Given the description of an element on the screen output the (x, y) to click on. 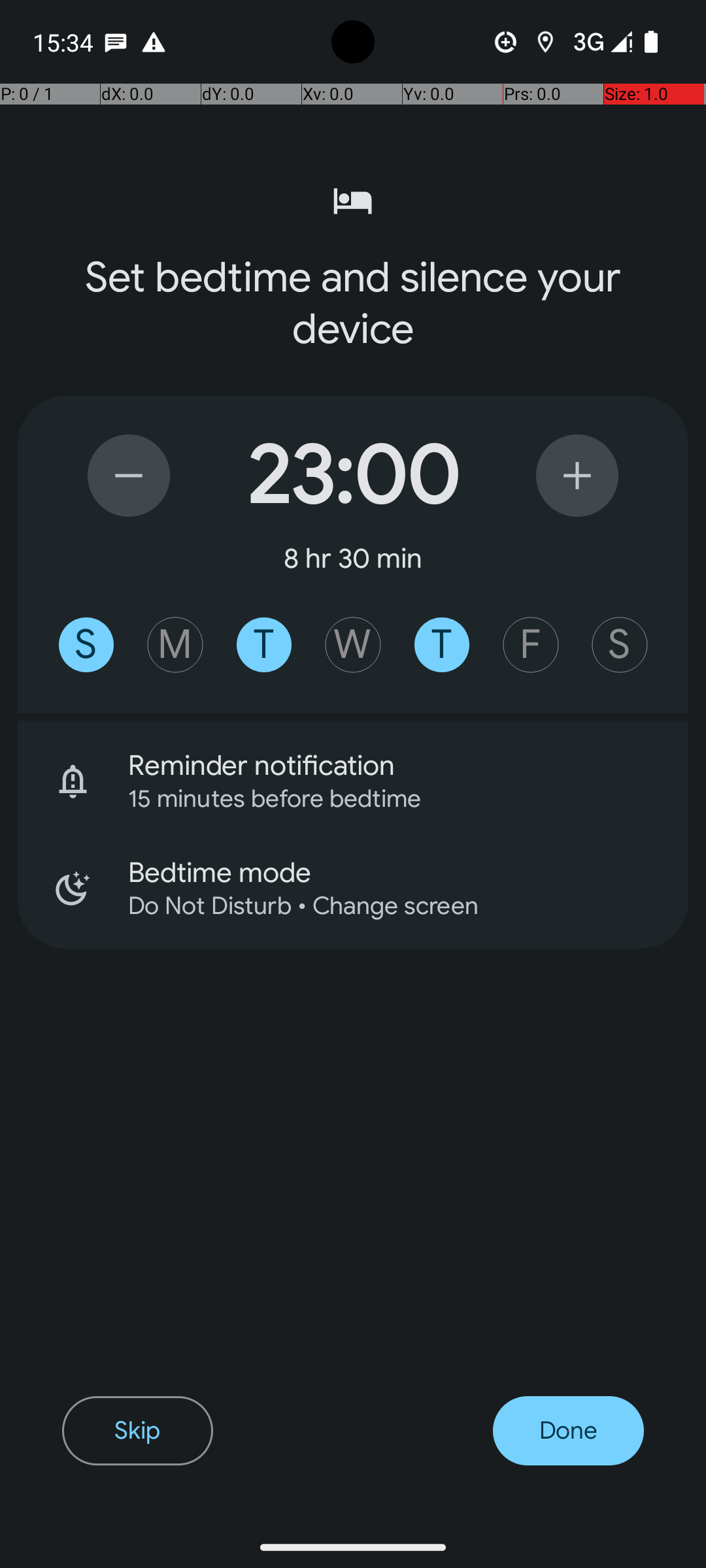
Set bedtime and silence your device Element type: android.widget.TextView (352, 302)
Fifteen minutes earlier Element type: android.widget.ImageView (128, 475)
23:00 Element type: android.widget.TextView (353, 475)
Fifteen minutes later Element type: android.widget.ImageView (577, 475)
8 hr 30 min Element type: android.widget.TextView (352, 558)
S Element type: android.widget.CheckBox (86, 644)
M Element type: android.widget.CheckBox (175, 644)
T Element type: android.widget.CheckBox (263, 644)
W Element type: android.widget.CheckBox (352, 644)
F Element type: android.widget.CheckBox (530, 644)
Skip Element type: android.widget.Button (137, 1430)
Done Element type: android.widget.Button (567, 1430)
Reminder notification Element type: android.widget.TextView (408, 765)
15 minutes before bedtime Element type: android.widget.TextView (390, 798)
Bedtime mode Element type: android.widget.TextView (408, 872)
Do Not Disturb • Change screen Element type: android.widget.TextView (390, 905)
